Given the description of an element on the screen output the (x, y) to click on. 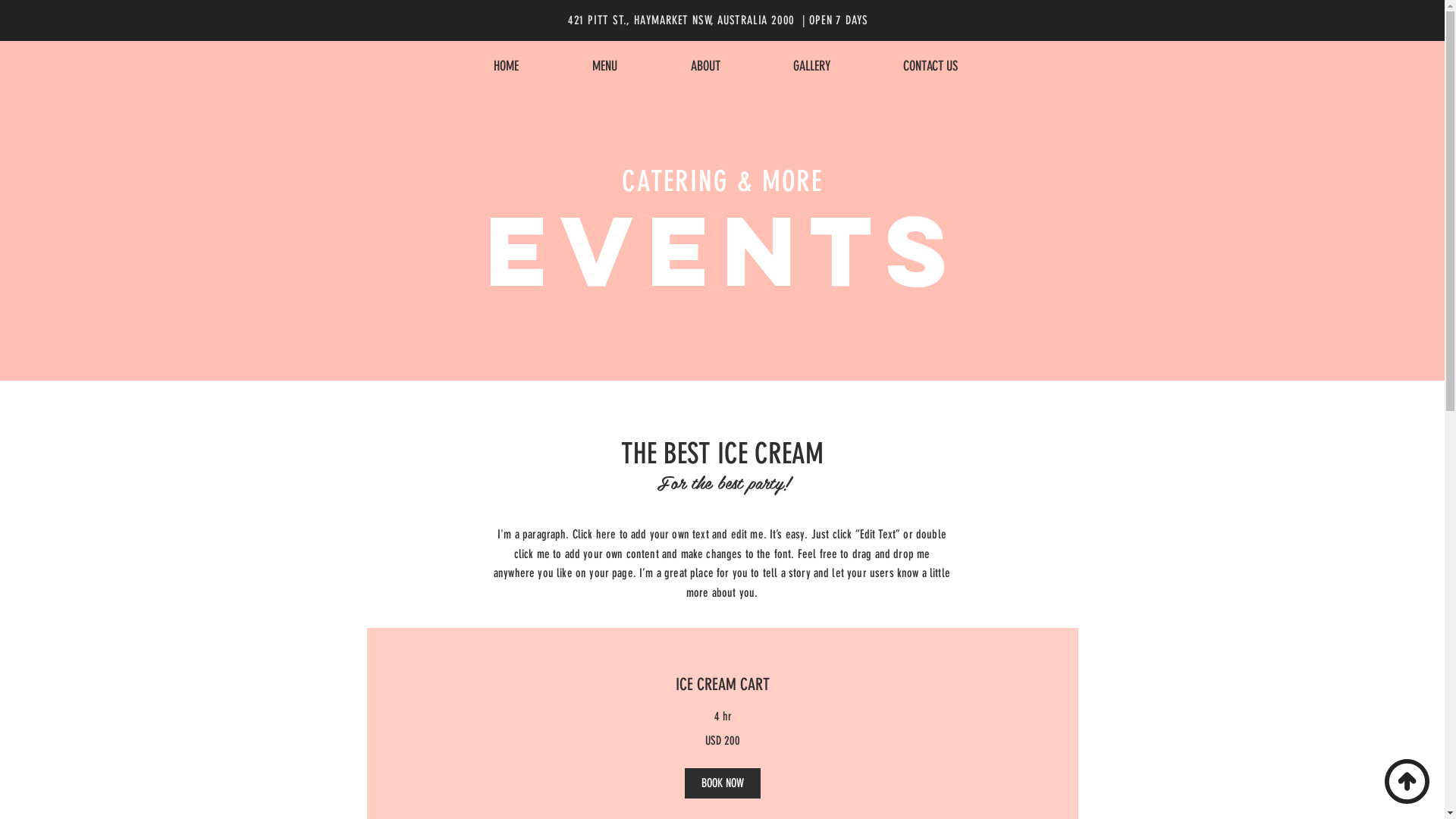
ABOUT Element type: text (704, 65)
CONTACT US Element type: text (929, 65)
BOOK NOW Element type: text (721, 783)
ICE CREAM CART Element type: text (722, 684)
HOME Element type: text (505, 65)
MENU Element type: text (604, 65)
GALLERY Element type: text (811, 65)
